Given the description of an element on the screen output the (x, y) to click on. 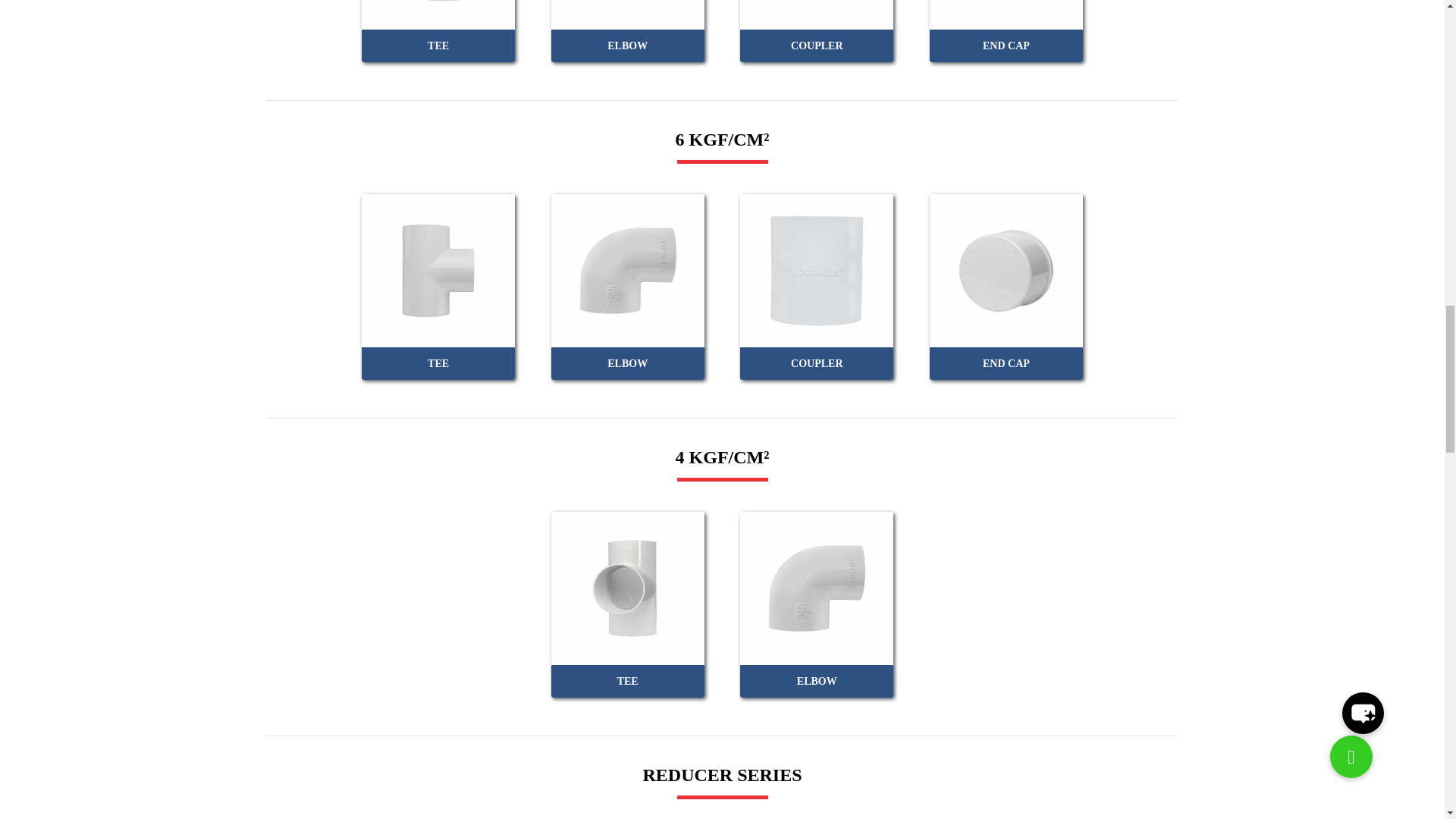
End Cap 6kgf (1006, 270)
Coupler 6kgf (816, 270)
Elbow 10 kgf (627, 14)
Coupler 10 kgf (816, 14)
Tee 6kgf (438, 270)
Tee 10kgf (438, 14)
End Cap 10kgf (1006, 14)
Elbow 6 kgf (627, 270)
